Given the description of an element on the screen output the (x, y) to click on. 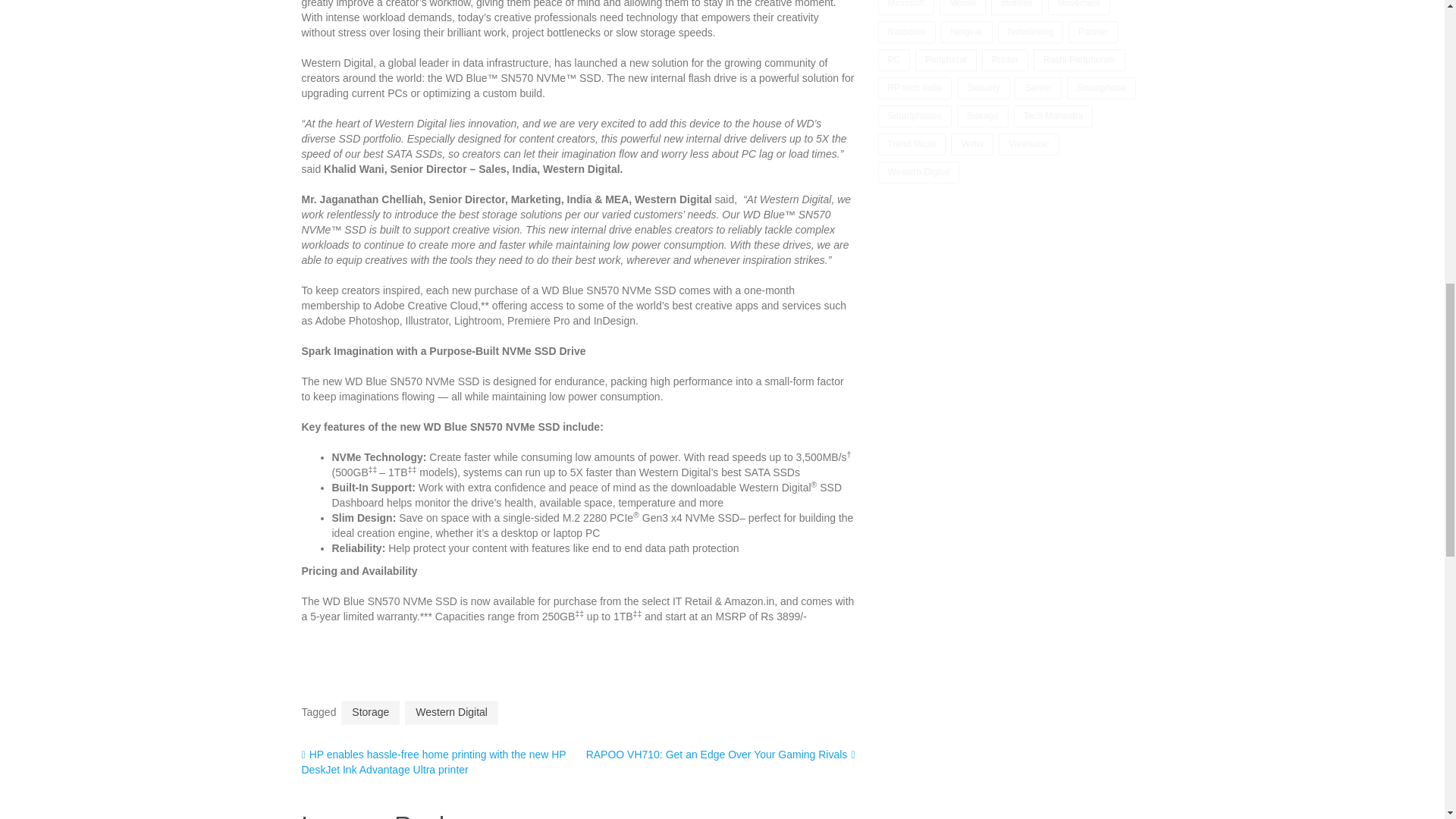
Western Digital (450, 712)
Storage (369, 712)
RAPOO VH710: Get an Edge Over Your Gaming Rivals (721, 754)
